Given the description of an element on the screen output the (x, y) to click on. 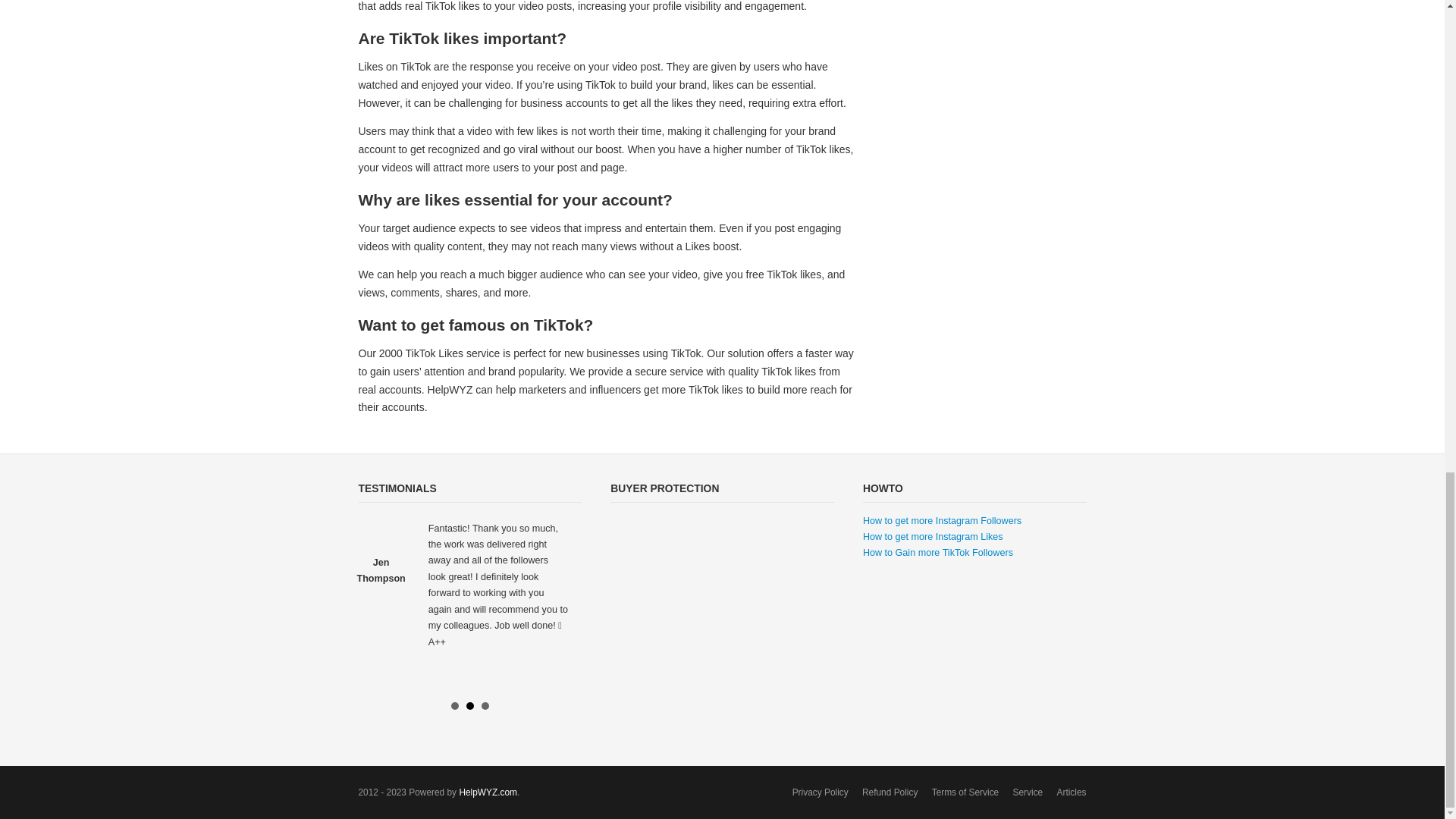
HelpWYZ.com (487, 792)
